Given the description of an element on the screen output the (x, y) to click on. 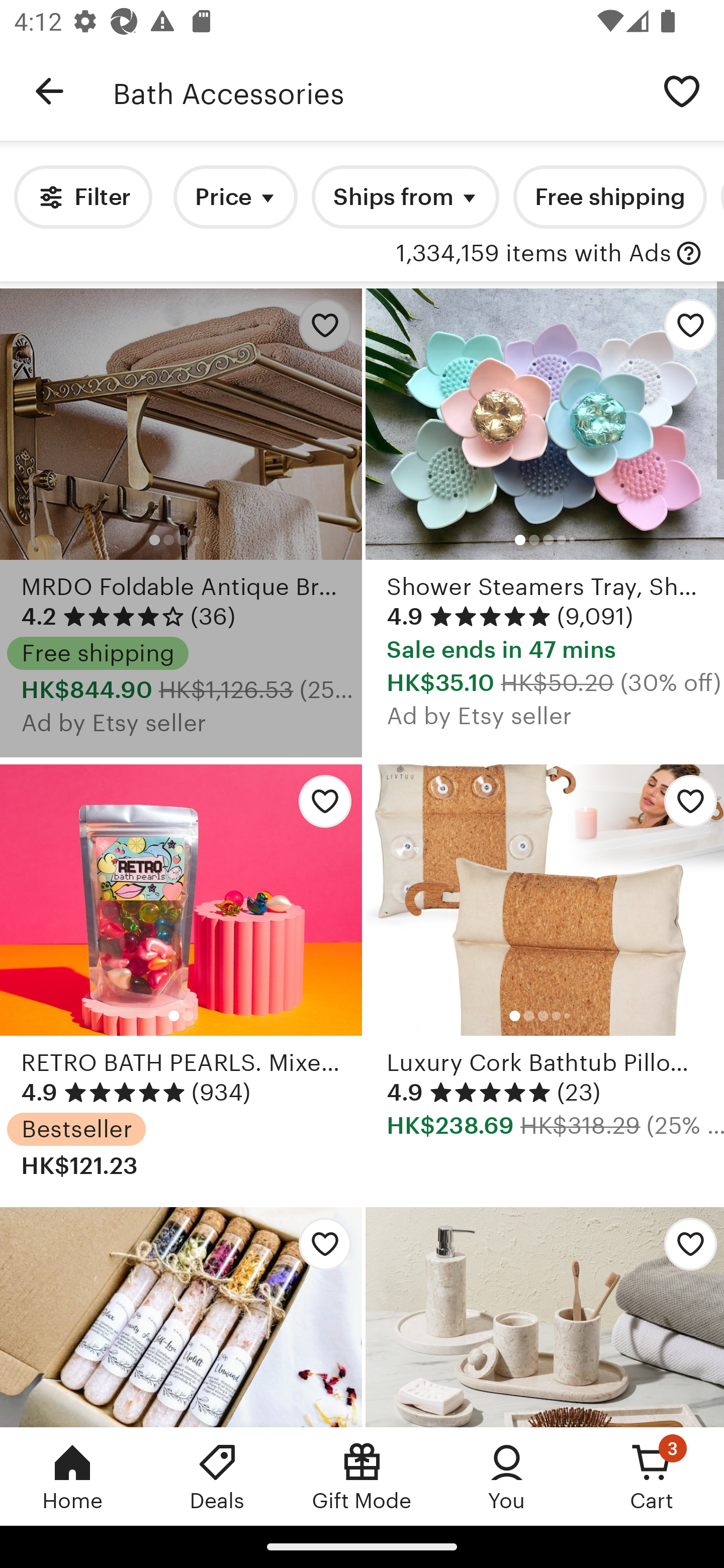
Navigate up (49, 91)
Save search (681, 90)
Bath Accessories (375, 91)
Filter (82, 197)
Price (235, 197)
Ships from (405, 197)
Free shipping (609, 197)
1,334,159 items with Ads (533, 253)
with Ads (688, 253)
Deals (216, 1475)
Gift Mode (361, 1475)
You (506, 1475)
Cart, 3 new notifications Cart (651, 1475)
